Given the description of an element on the screen output the (x, y) to click on. 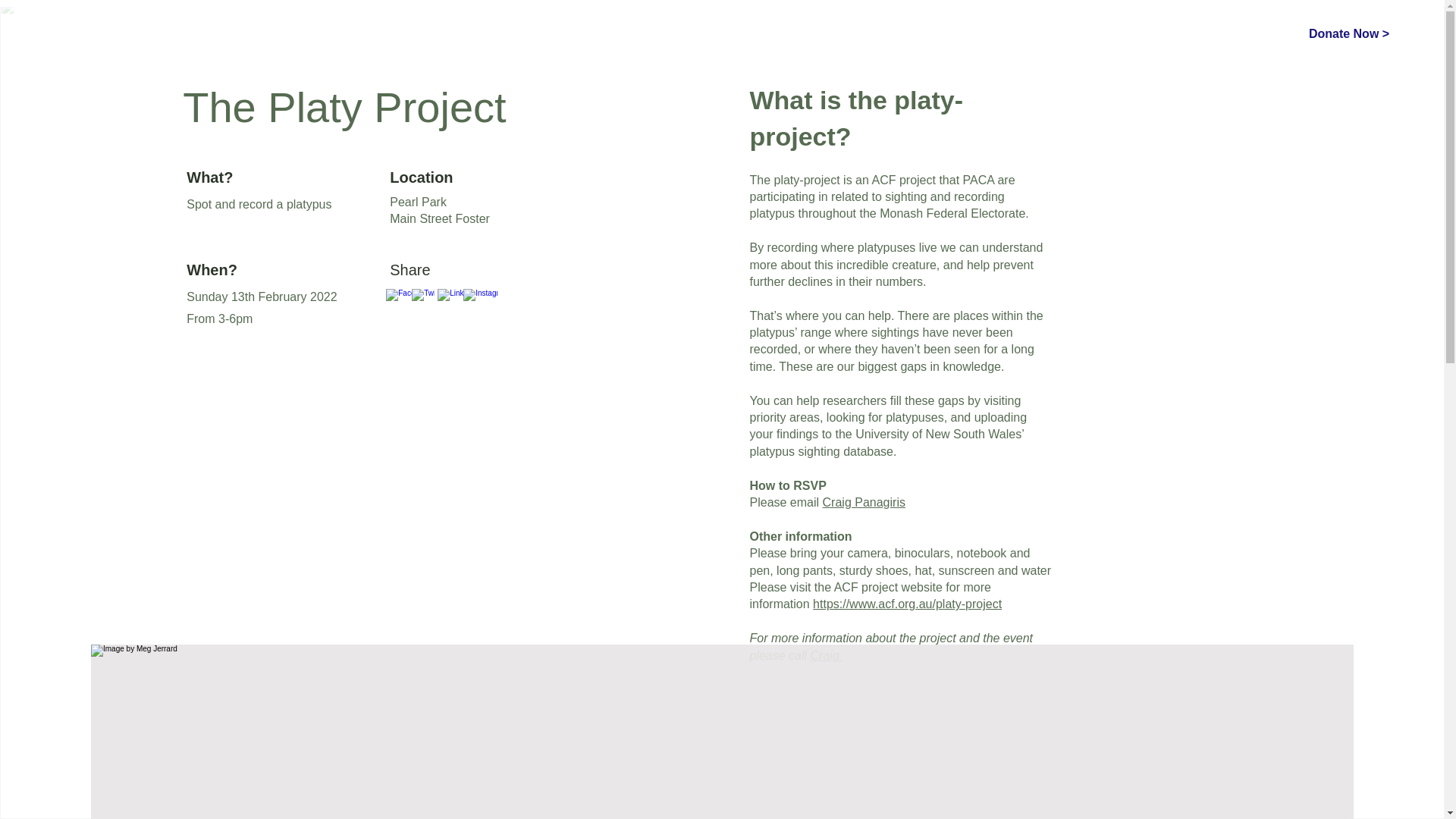
Craig  (826, 655)
Craig Panagiris (863, 502)
